Given the description of an element on the screen output the (x, y) to click on. 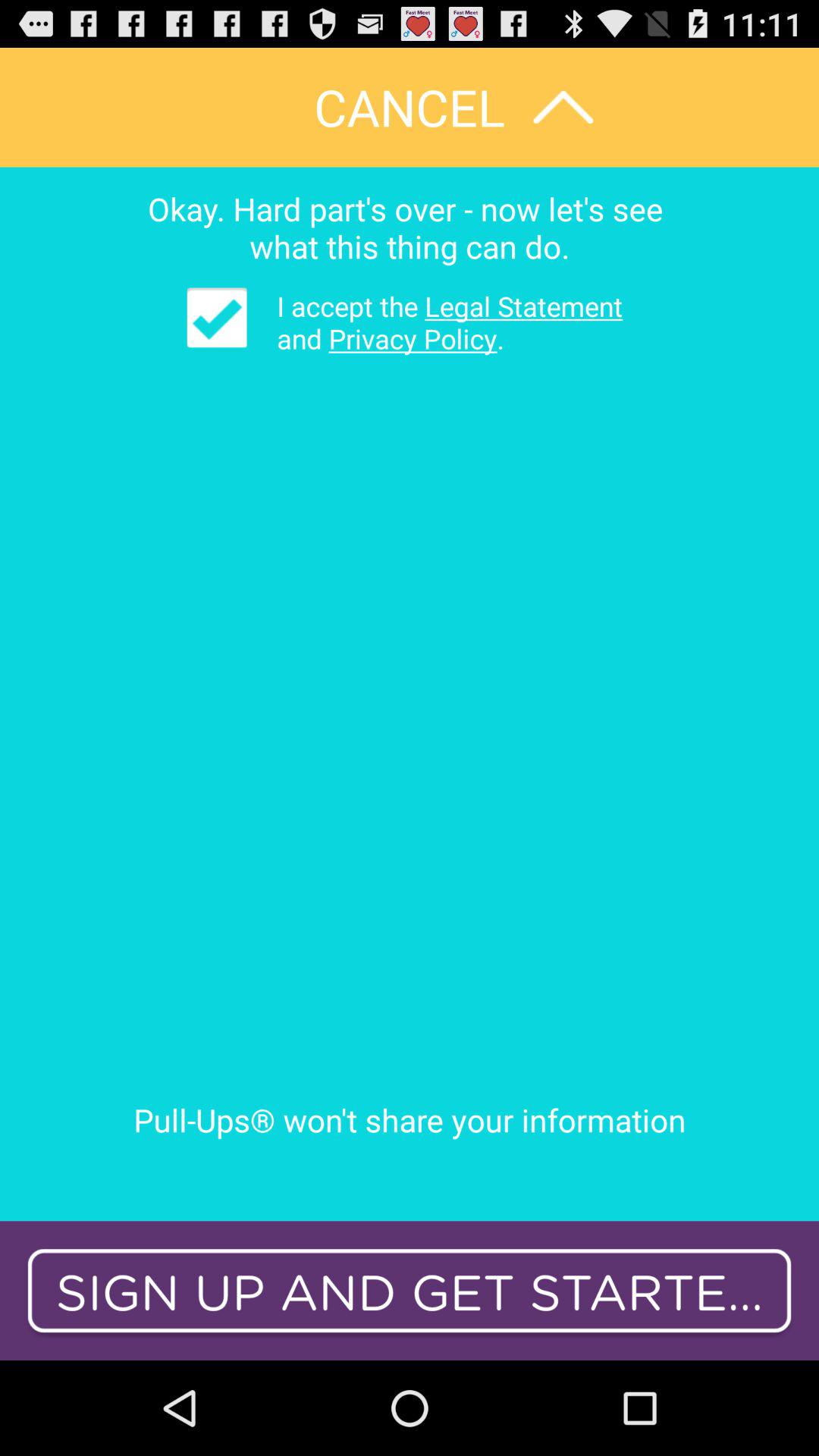
turn on item at the top left corner (216, 317)
